Given the description of an element on the screen output the (x, y) to click on. 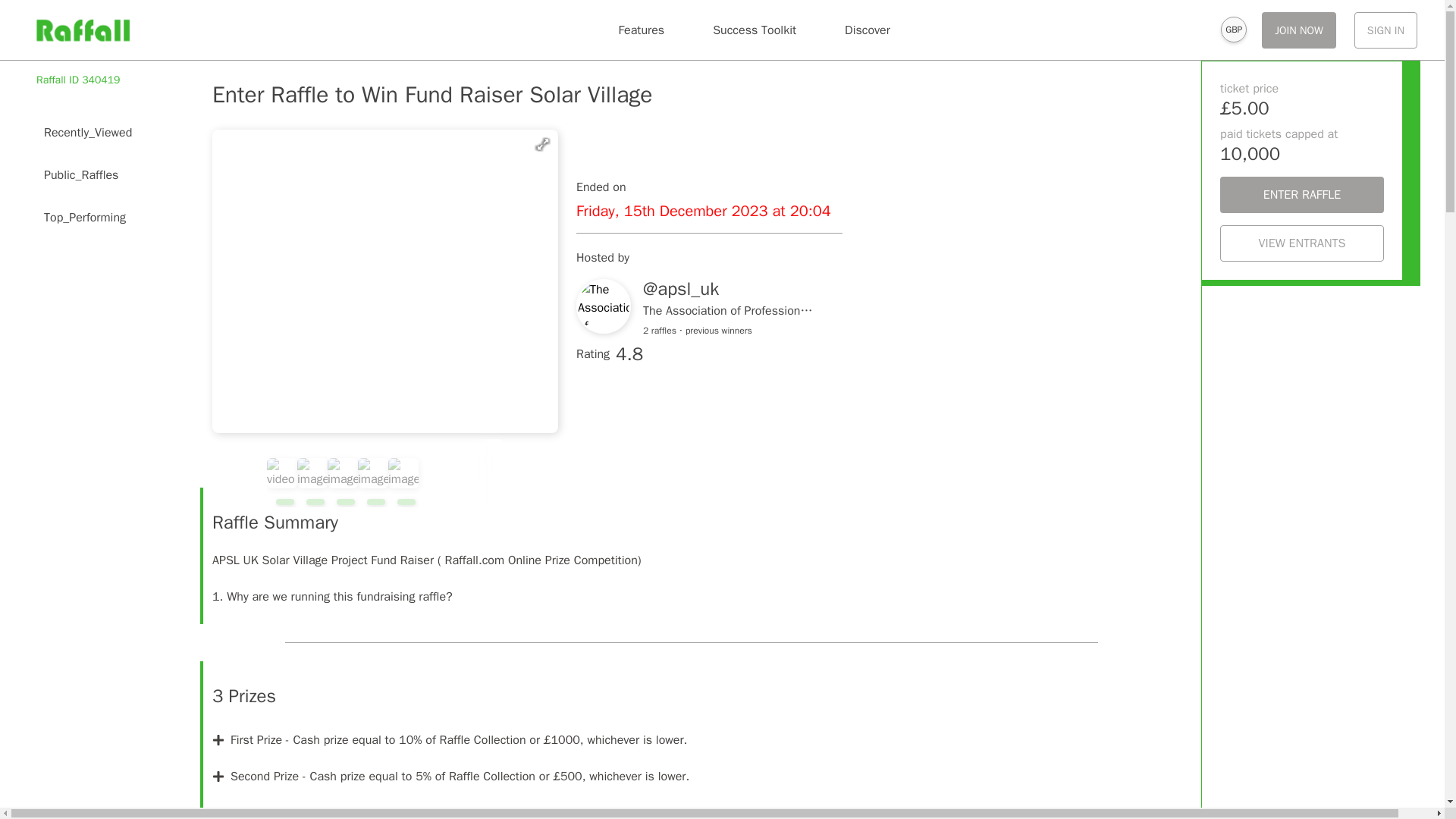
VIEW ENTRANTS (1302, 243)
Discover (867, 30)
Success Toolkit (754, 30)
ENTER RAFFLE (1302, 194)
Raffall ID 340419 (78, 79)
Features (641, 30)
JOIN NOW (1299, 30)
SIGN IN (1385, 30)
